Given the description of an element on the screen output the (x, y) to click on. 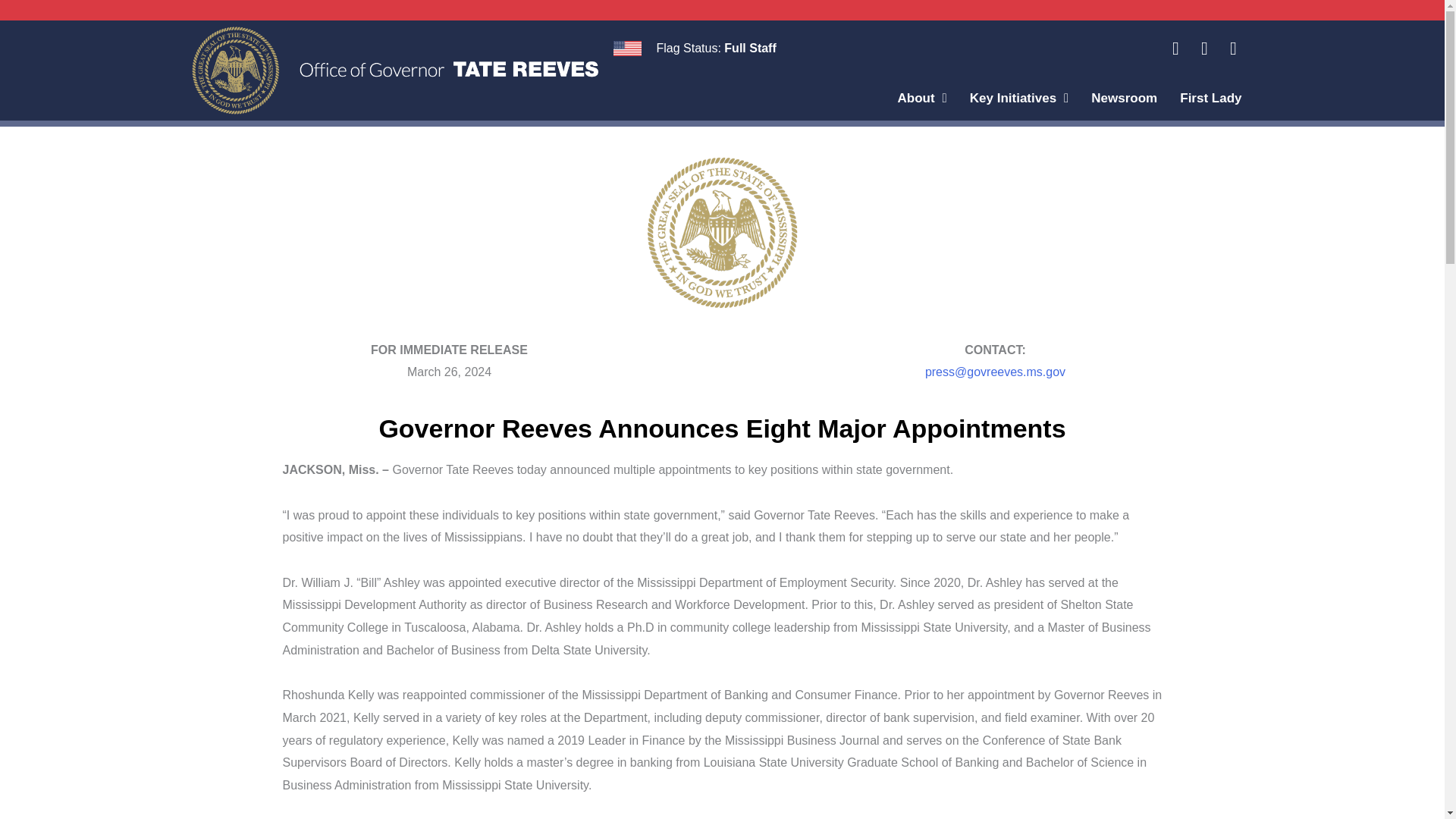
Key Initiatives (1019, 105)
Newsroom (1123, 105)
About (921, 105)
First Lady (1210, 105)
United States of America (626, 47)
Office of Governor Tate Reeves (393, 70)
